Given the description of an element on the screen output the (x, y) to click on. 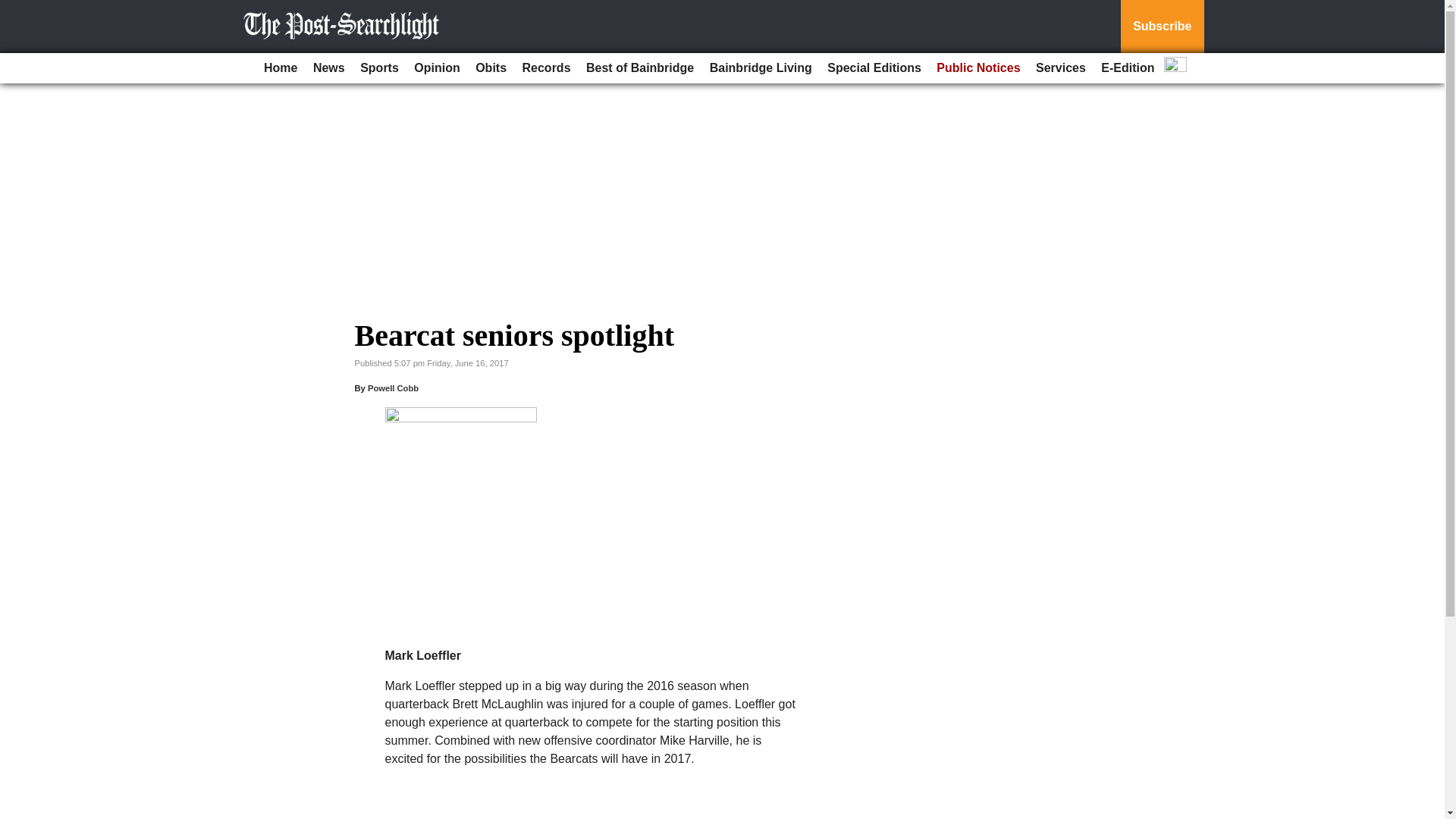
Subscribe (1162, 26)
Best of Bainbridge (639, 68)
Bainbridge Living (760, 68)
E-Edition (1127, 68)
Obits (490, 68)
Opinion (436, 68)
Special Editions (874, 68)
Home (279, 68)
Powell Cobb (393, 388)
Go (13, 9)
